Given the description of an element on the screen output the (x, y) to click on. 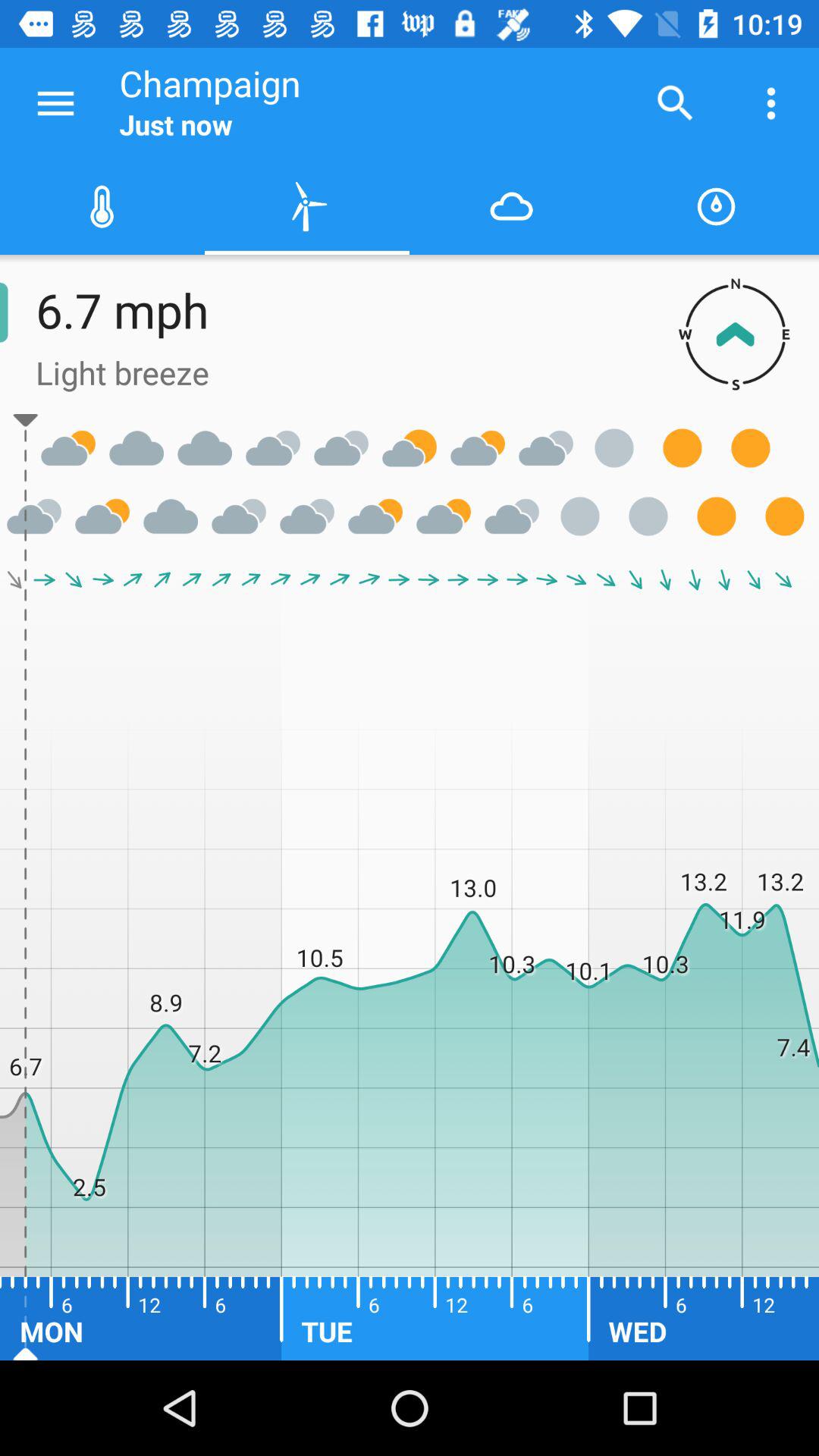
turn on the icon next to the champaign icon (675, 103)
